Given the description of an element on the screen output the (x, y) to click on. 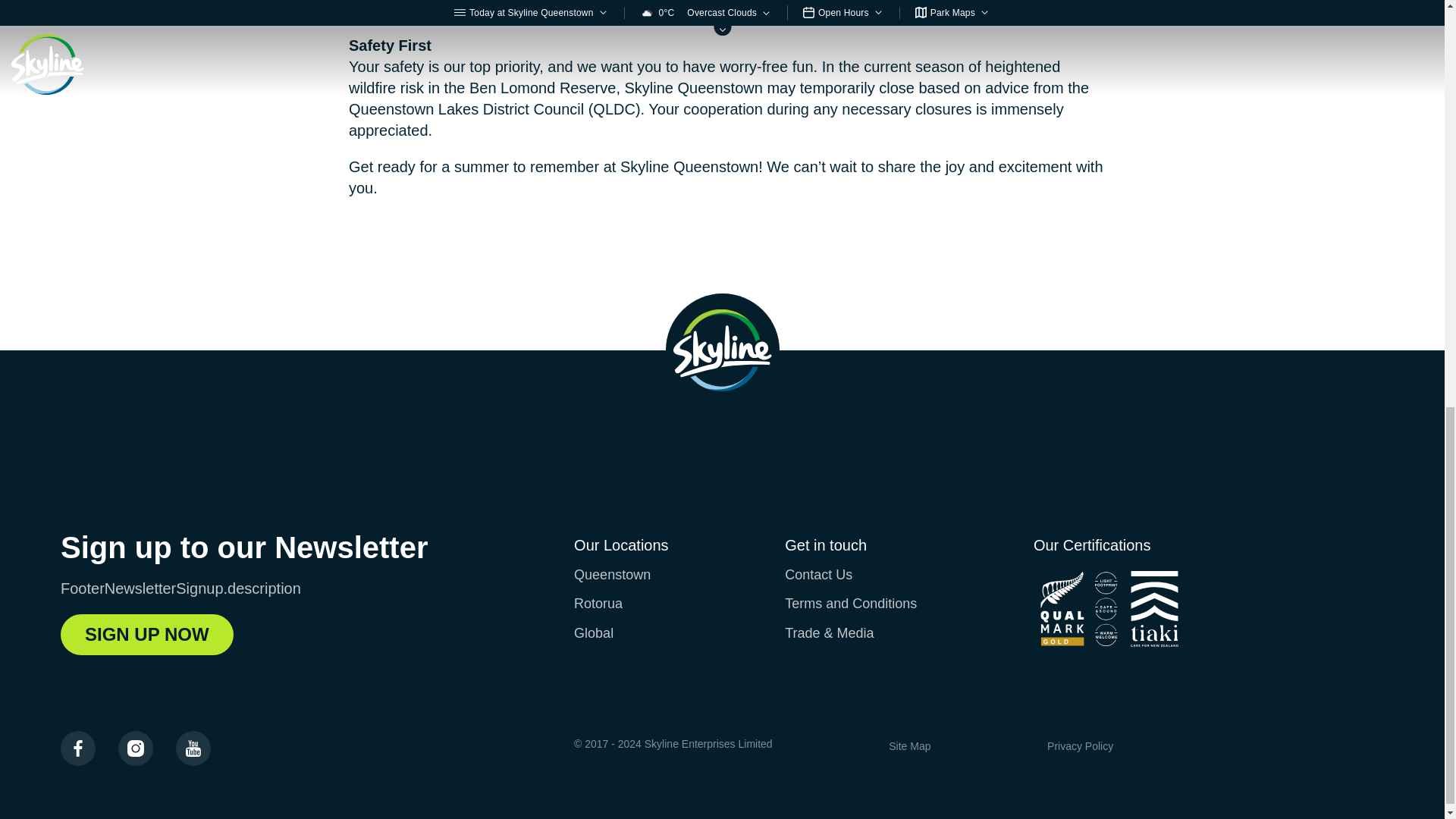
SIGN UP NOW (146, 634)
Privacy Policy (1079, 746)
Site Map (909, 746)
Terms and Conditions (850, 603)
Global (592, 632)
Queenstown (611, 574)
Rotorua (598, 603)
Contact Us (817, 574)
